Given the description of an element on the screen output the (x, y) to click on. 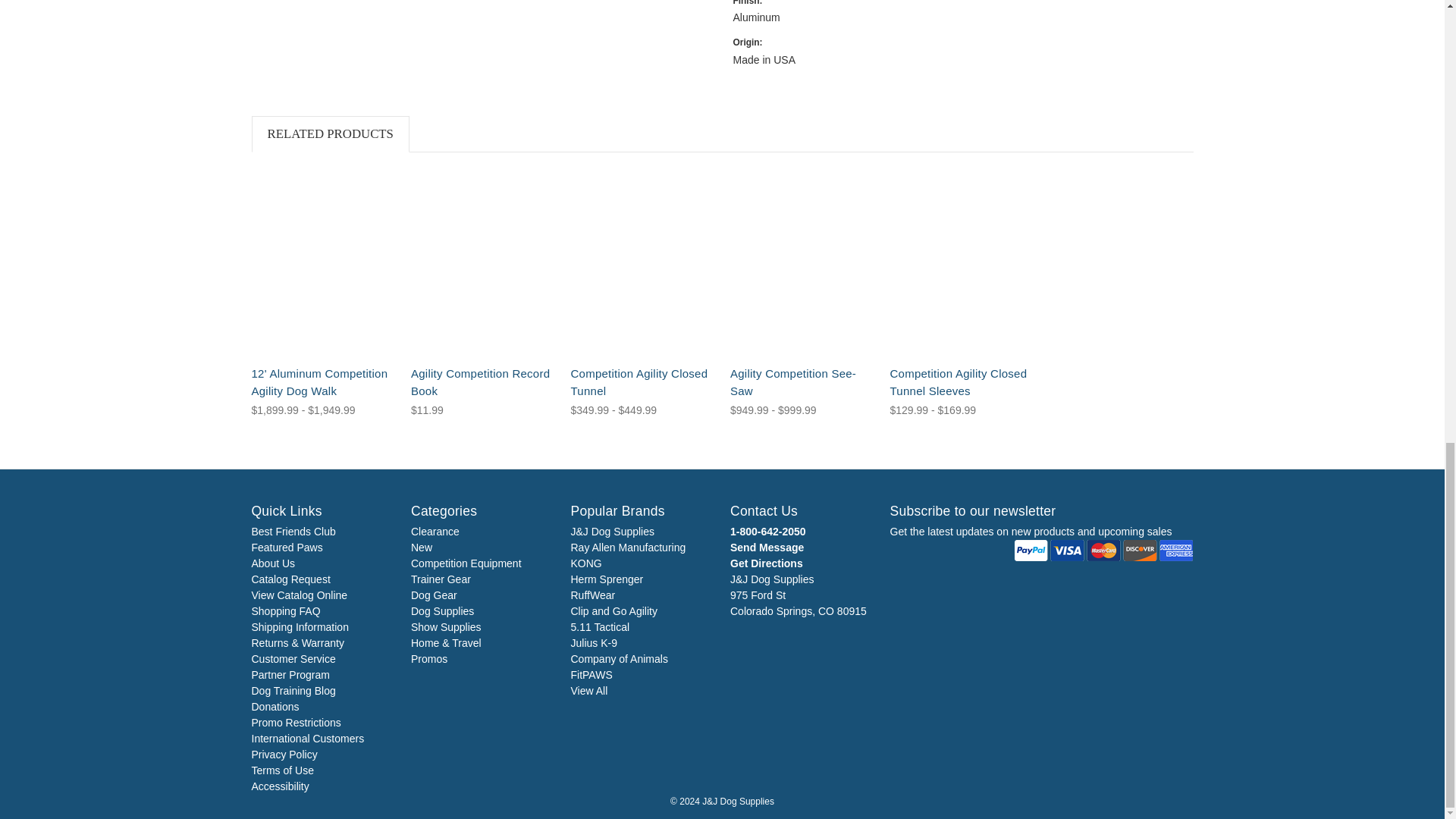
Competition Agility Closed Tunnel (642, 262)
Competition Agility Closed Tunnel Sleeves (961, 262)
Agility Competition Record Book (482, 262)
12' Aluminum Competition Agility Dog Walk (323, 262)
Agility Competition See-Saw (802, 262)
